Given the description of an element on the screen output the (x, y) to click on. 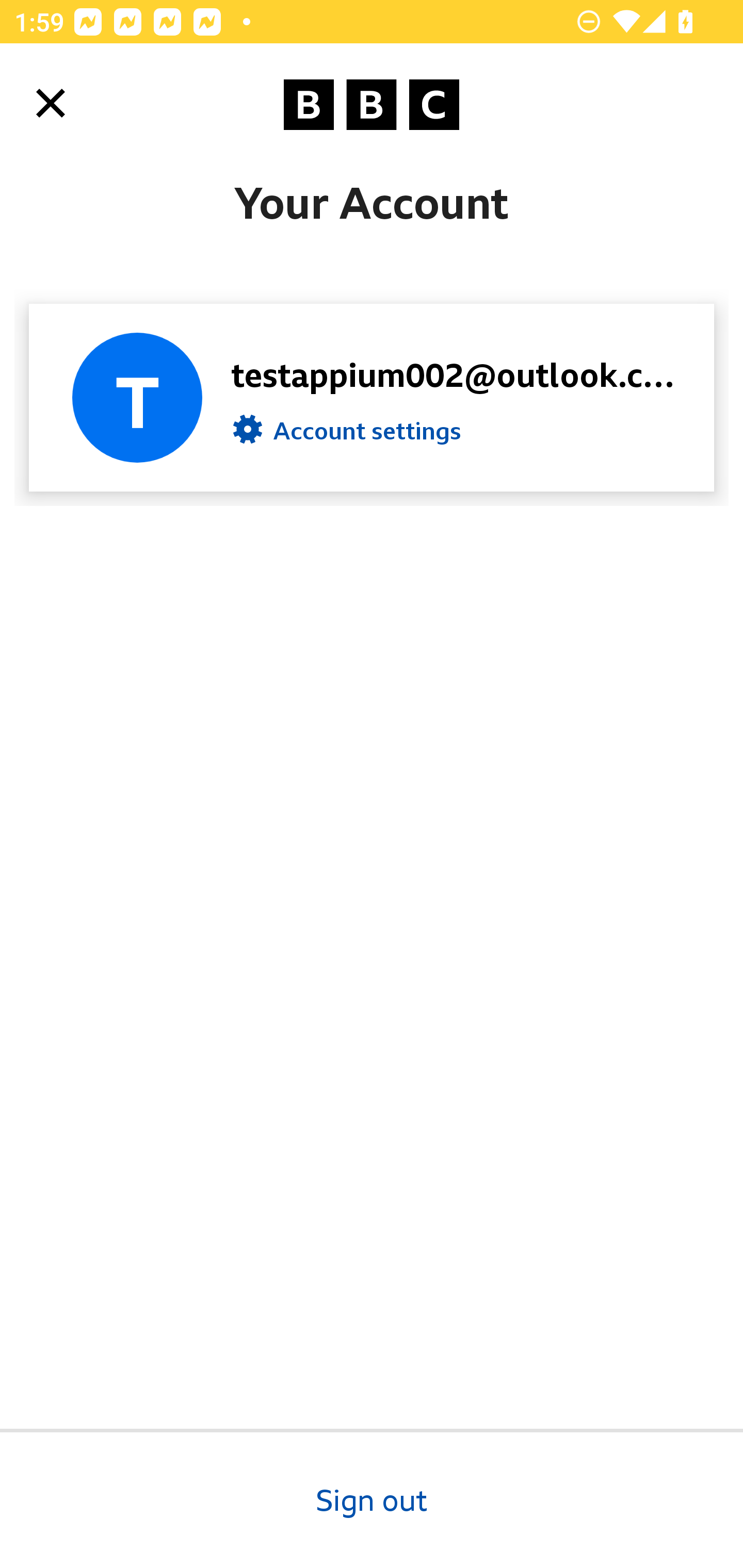
Close (50, 103)
testappium002@outlook.com Account settings (371, 397)
Account settings (346, 433)
Sign out (371, 1498)
